Given the description of an element on the screen output the (x, y) to click on. 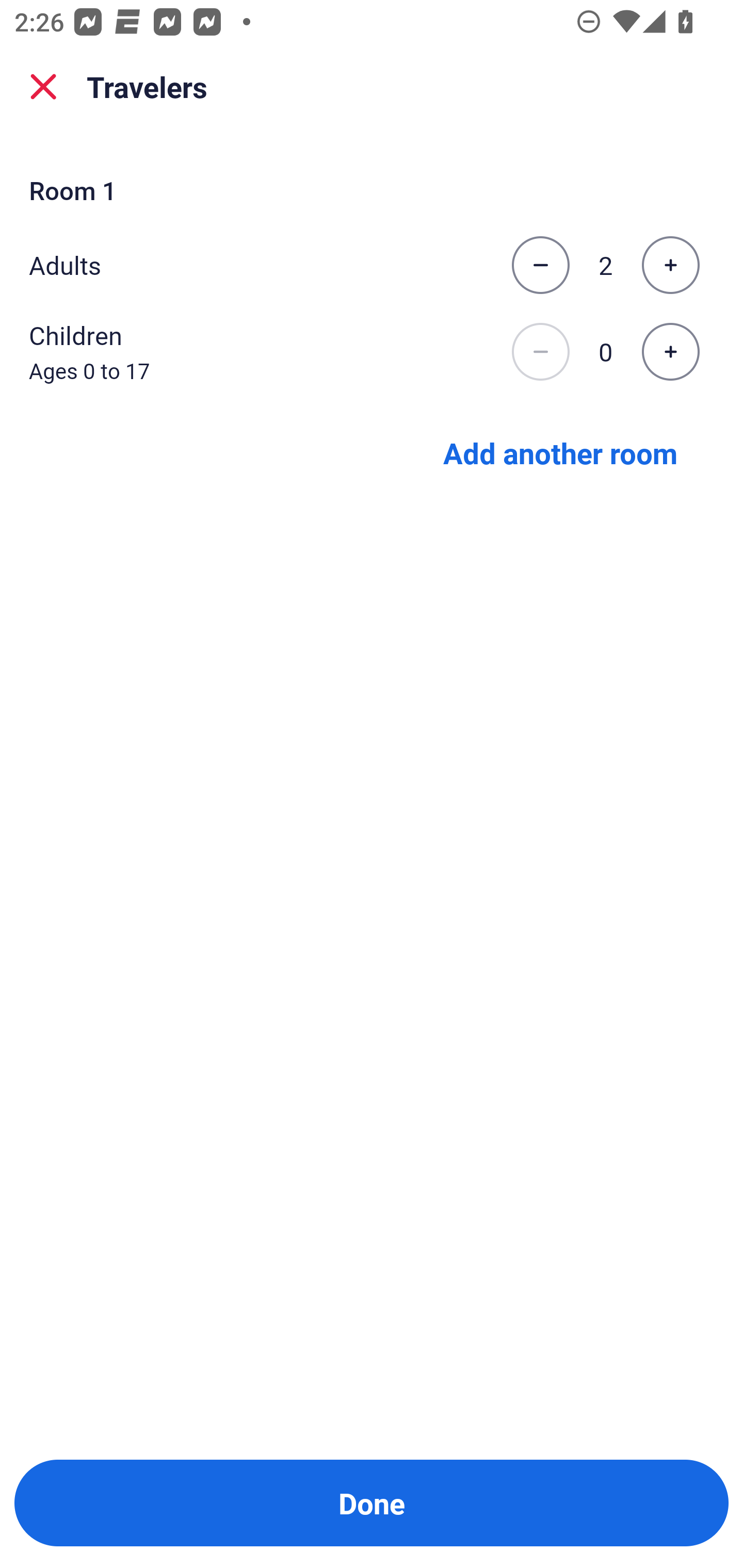
close (43, 86)
Decrease the number of adults (540, 264)
Increase the number of adults (670, 264)
Decrease the number of children (540, 351)
Increase the number of children (670, 351)
Add another room (560, 452)
Done (371, 1502)
